Given the description of an element on the screen output the (x, y) to click on. 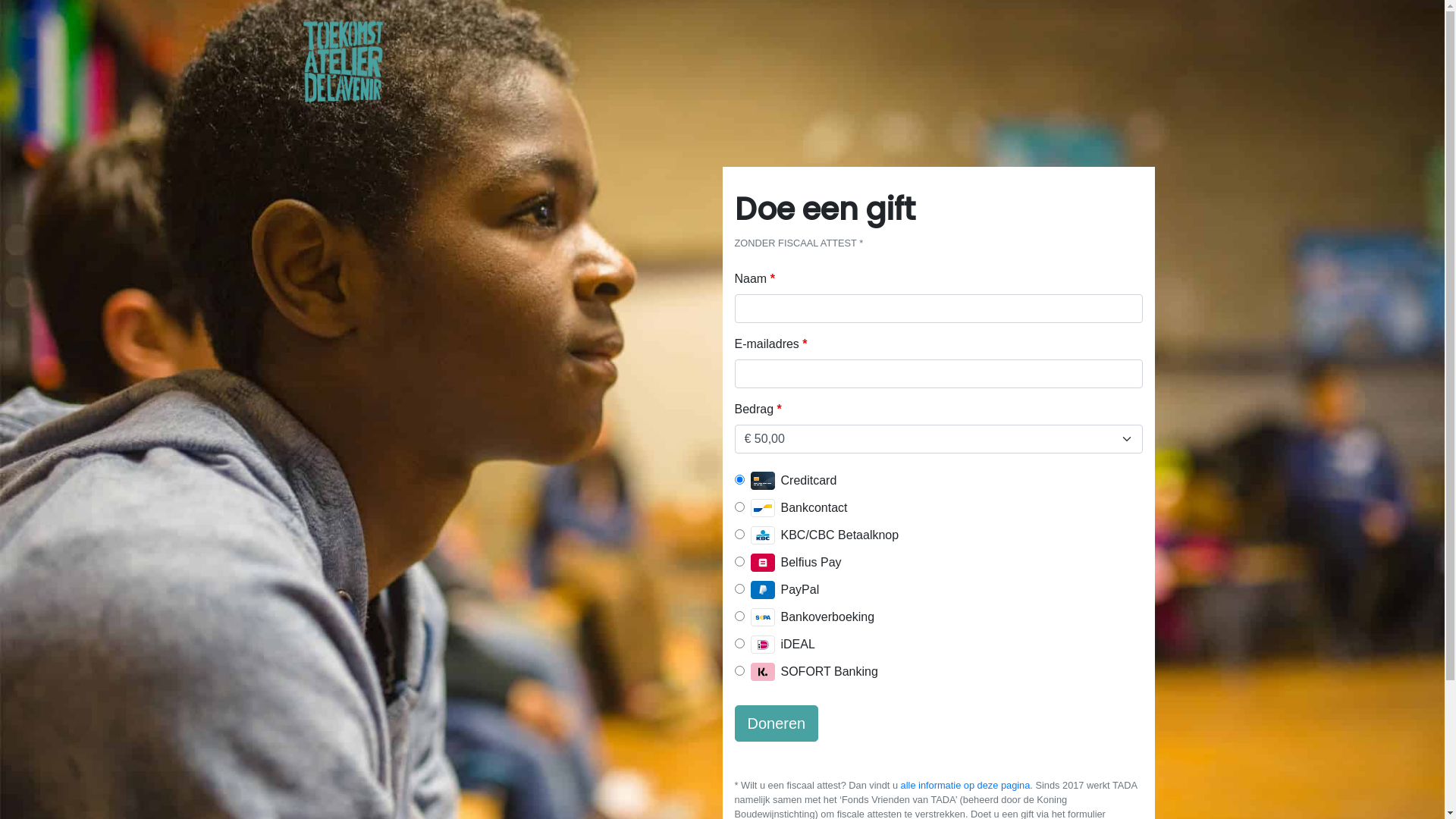
Doneren Element type: text (776, 723)
alle informatie op deze pagina Element type: text (965, 784)
